Given the description of an element on the screen output the (x, y) to click on. 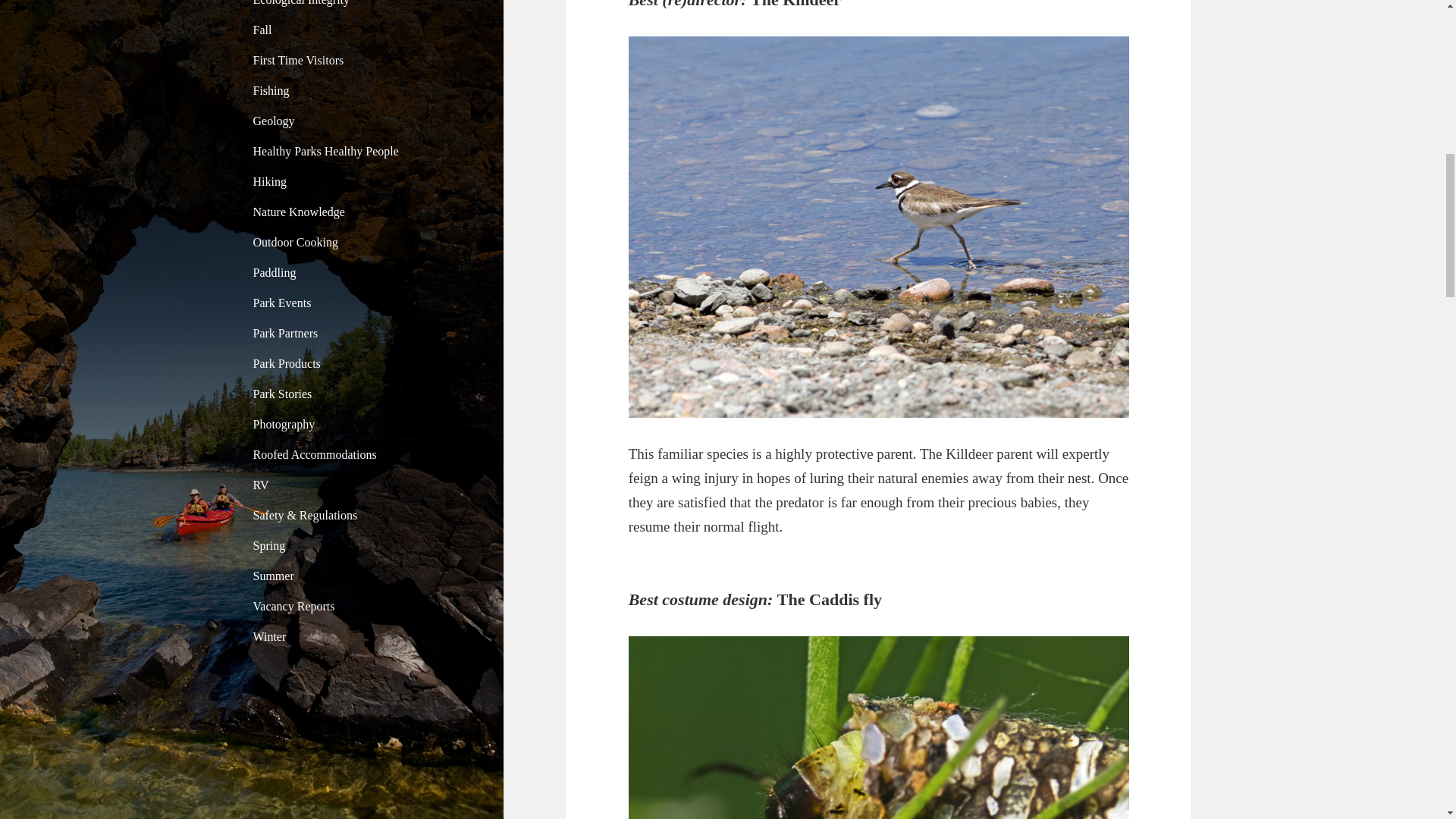
Vacancy Reports (293, 605)
First Time Visitors (298, 60)
Outdoor Cooking (295, 241)
Fall (262, 29)
Healthy Parks Healthy People (325, 151)
Hiking (269, 181)
Ecological Integrity (301, 2)
RV (261, 484)
Geology (274, 120)
Paddling (275, 272)
Nature Knowledge (299, 211)
Spring (269, 545)
Park Products (286, 363)
Summer (273, 575)
Park Partners (285, 332)
